Given the description of an element on the screen output the (x, y) to click on. 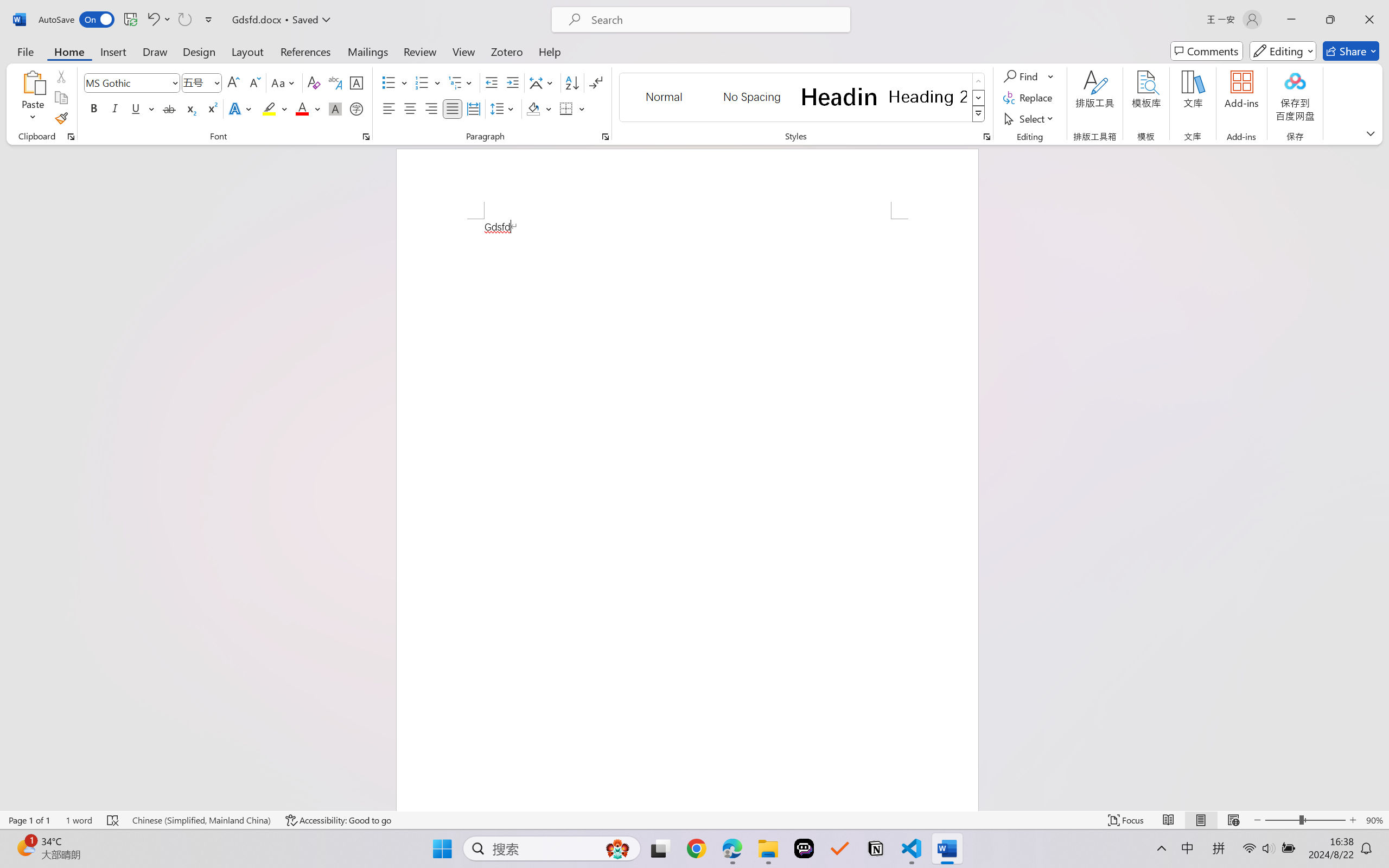
Can't Repeat (184, 19)
Class: NetUIScrollBar (1382, 477)
Zoom 90% (1374, 819)
Page 1 content (687, 514)
